Given the description of an element on the screen output the (x, y) to click on. 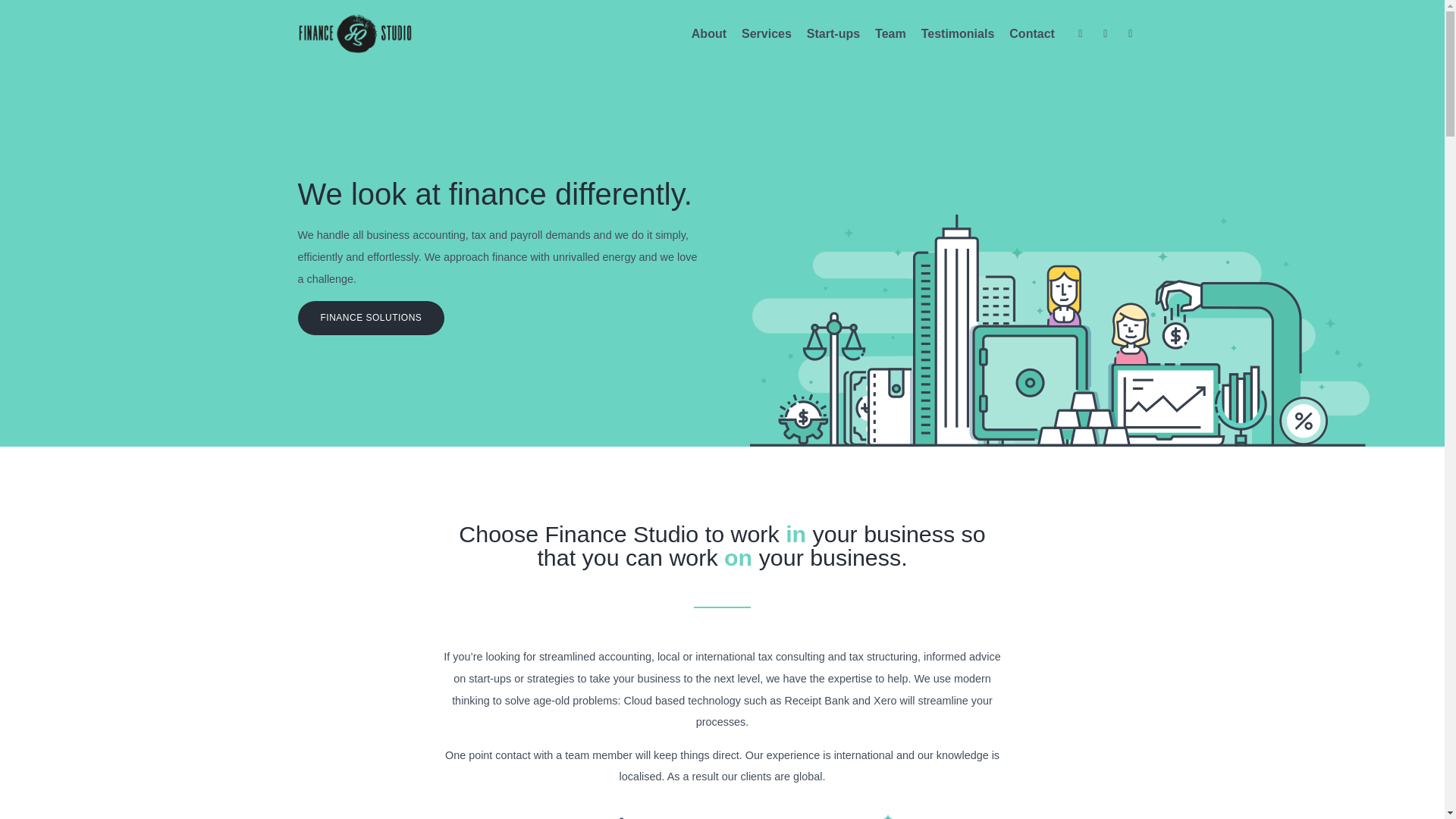
Team (890, 33)
Testimonials (957, 33)
Start-ups (833, 33)
Services (766, 33)
About (708, 33)
Contact (1031, 33)
FINANCE SOLUTIONS (370, 317)
